Given the description of an element on the screen output the (x, y) to click on. 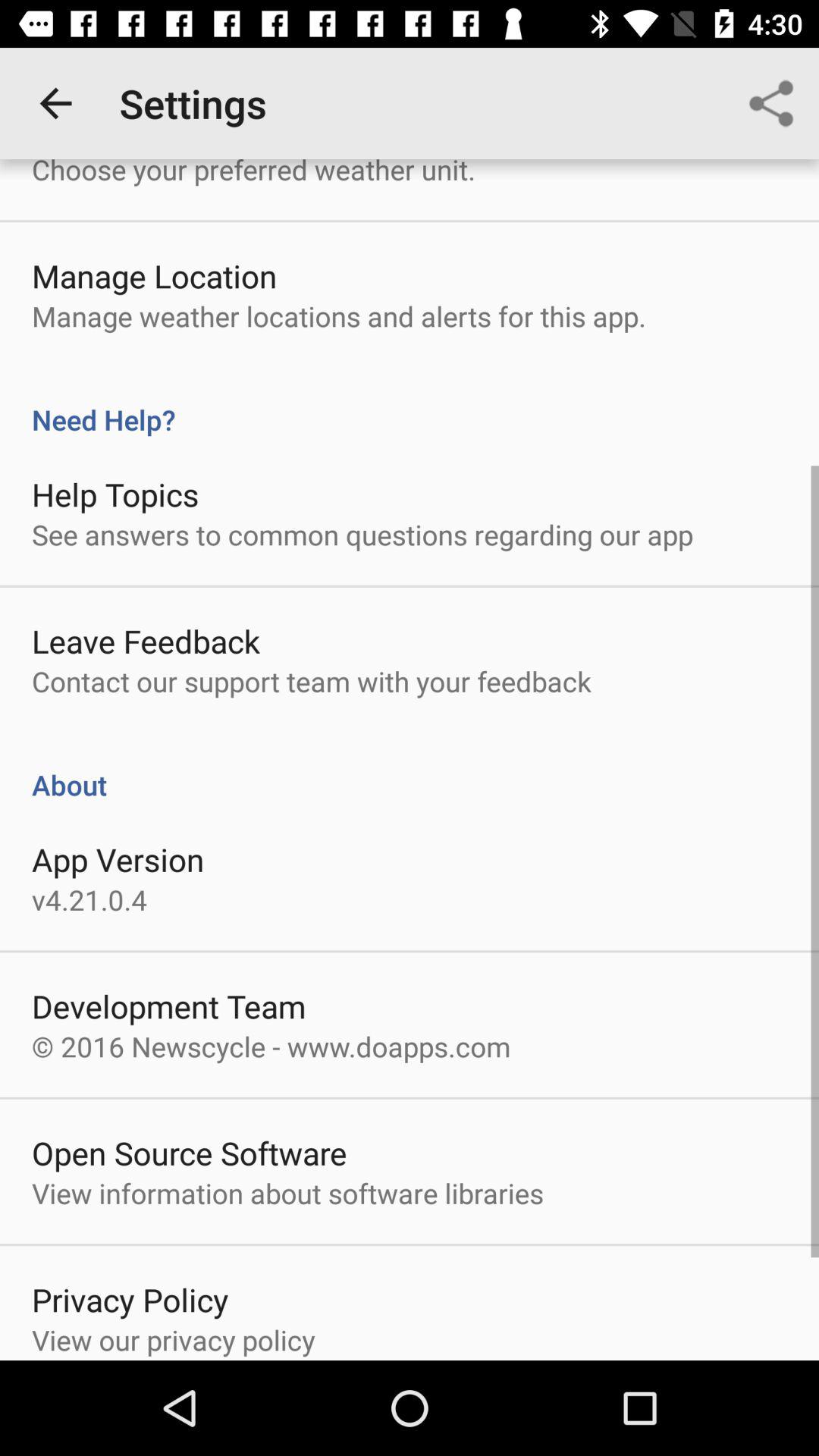
press the help topics icon (115, 493)
